Given the description of an element on the screen output the (x, y) to click on. 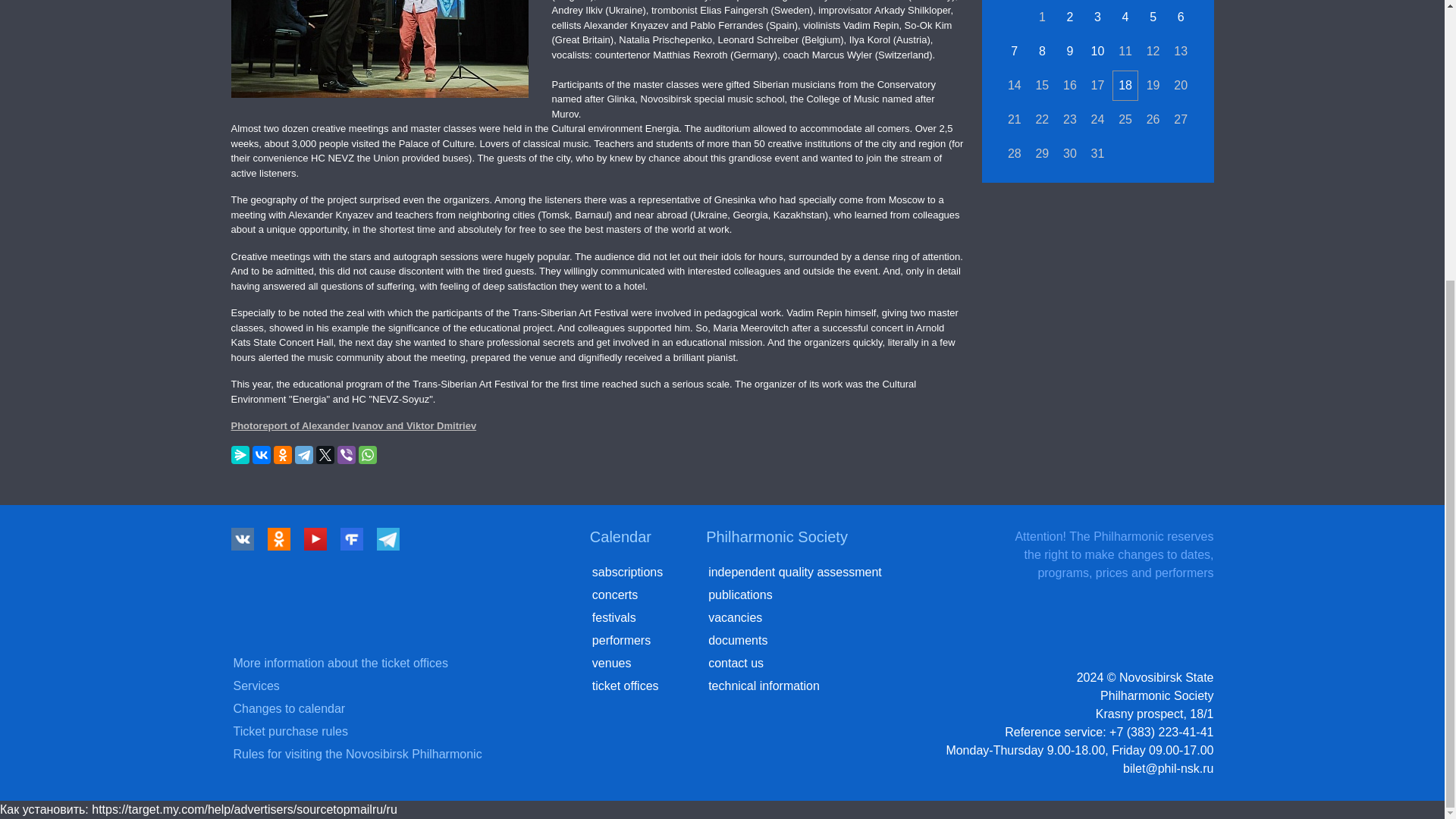
Photoreport of Alexander Ivanov and Viktor Dmitriev (353, 425)
